Given the description of an element on the screen output the (x, y) to click on. 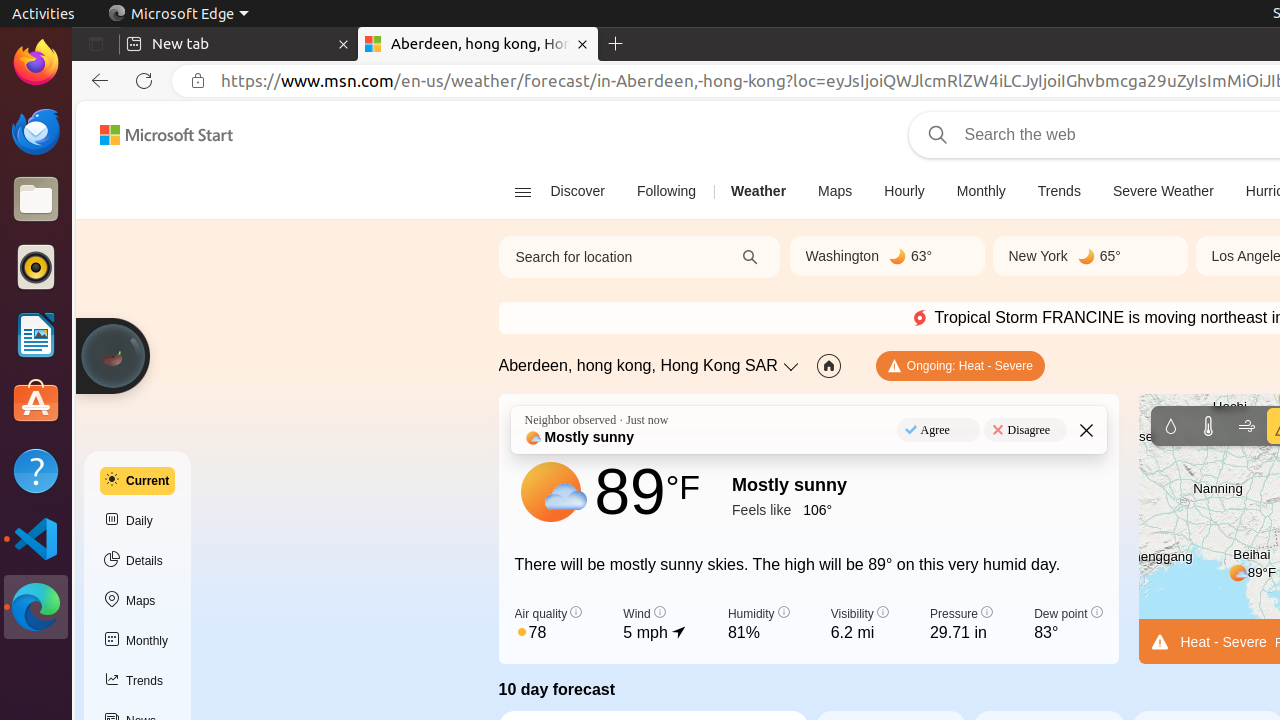
Ubuntu Software Element type: push-button (36, 402)
LibreOffice Writer Element type: push-button (36, 334)
Feels like ‎106° Element type: link (790, 509)
